Given the description of an element on the screen output the (x, y) to click on. 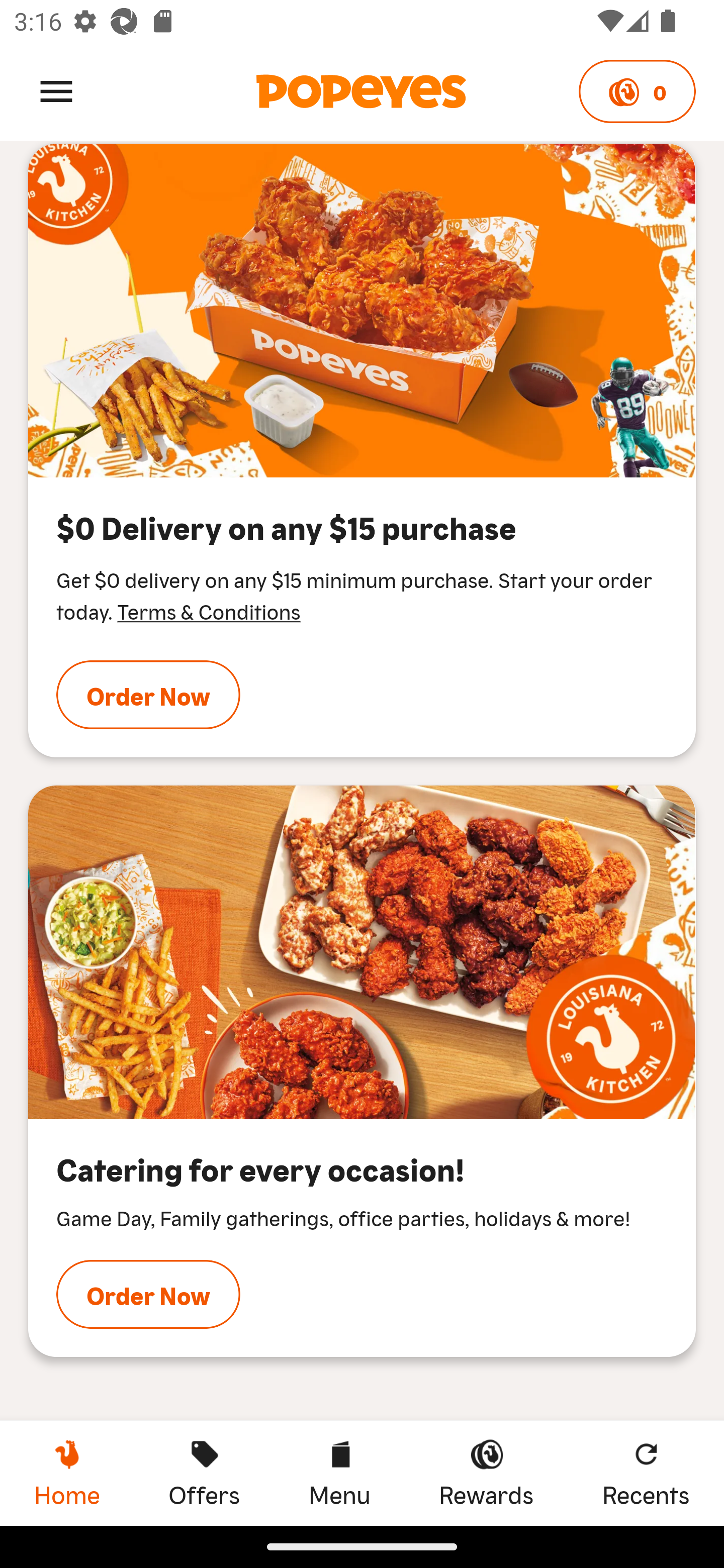
Menu  (56, 90)
0 Points 0 (636, 91)
Popeyes Wings (361, 310)
Order Now (148, 694)
Catering for every occasion! (361, 952)
Order Now (148, 1294)
Home, current page Home Home, current page (66, 1472)
Offers Offers Offers (203, 1472)
Menu Menu Menu (339, 1472)
Rewards Rewards Rewards (486, 1472)
Recents Recents Recents (646, 1472)
